Given the description of an element on the screen output the (x, y) to click on. 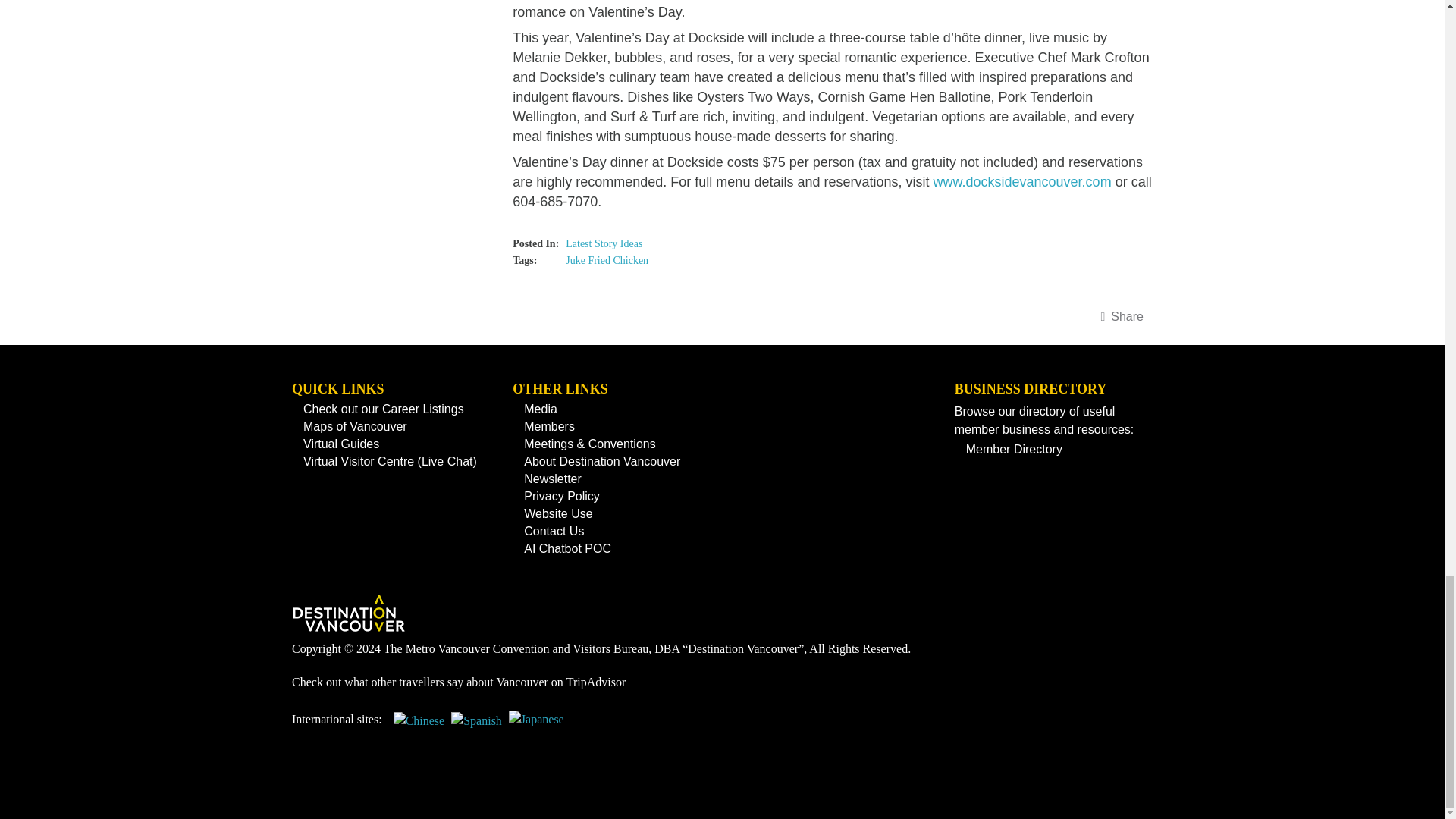
Japanese (536, 726)
Spanish (476, 726)
Chinese (419, 726)
